Given the description of an element on the screen output the (x, y) to click on. 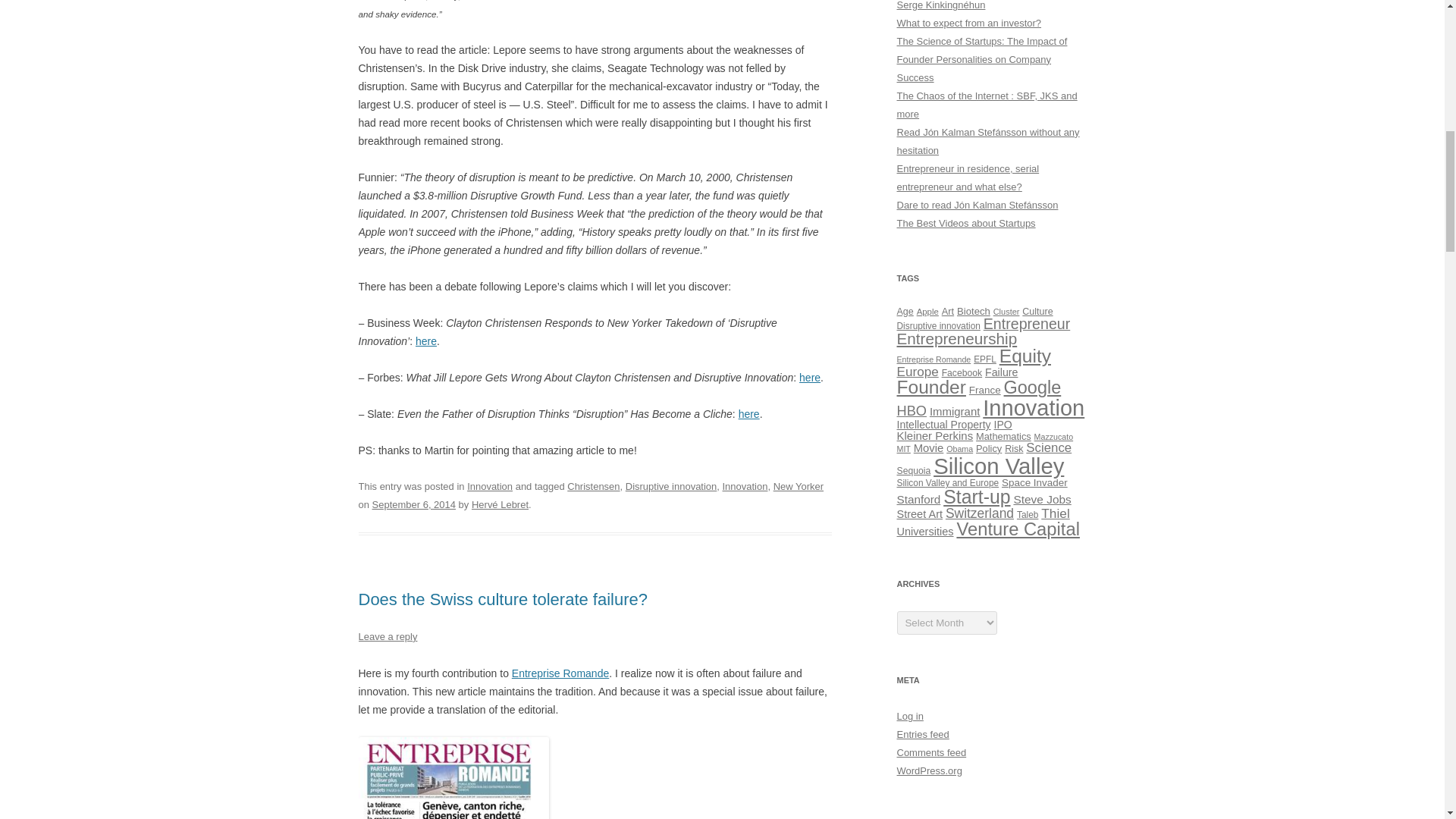
Christensen (593, 486)
here (425, 340)
here (749, 413)
Innovation (489, 486)
Does the Swiss culture tolerate failure? (502, 599)
here (810, 377)
Innovation (745, 486)
9:06 pm (413, 504)
New Yorker (798, 486)
Leave a reply (387, 636)
